Given the description of an element on the screen output the (x, y) to click on. 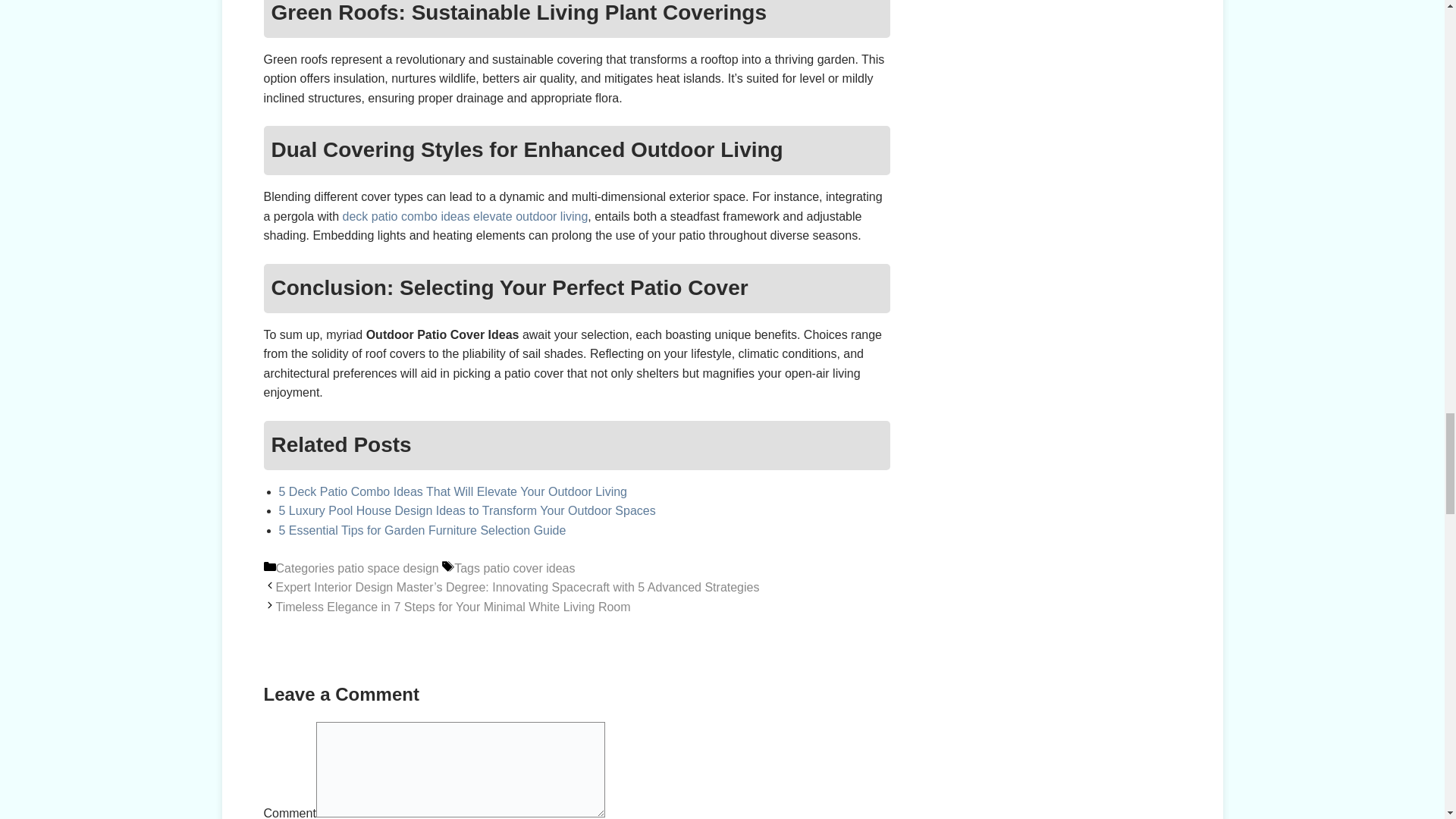
5 Essential Tips for Garden Furniture Selection Guide (422, 530)
patio cover ideas (529, 567)
deck patio combo ideas elevate outdoor living (465, 215)
patio space design (387, 567)
